Given the description of an element on the screen output the (x, y) to click on. 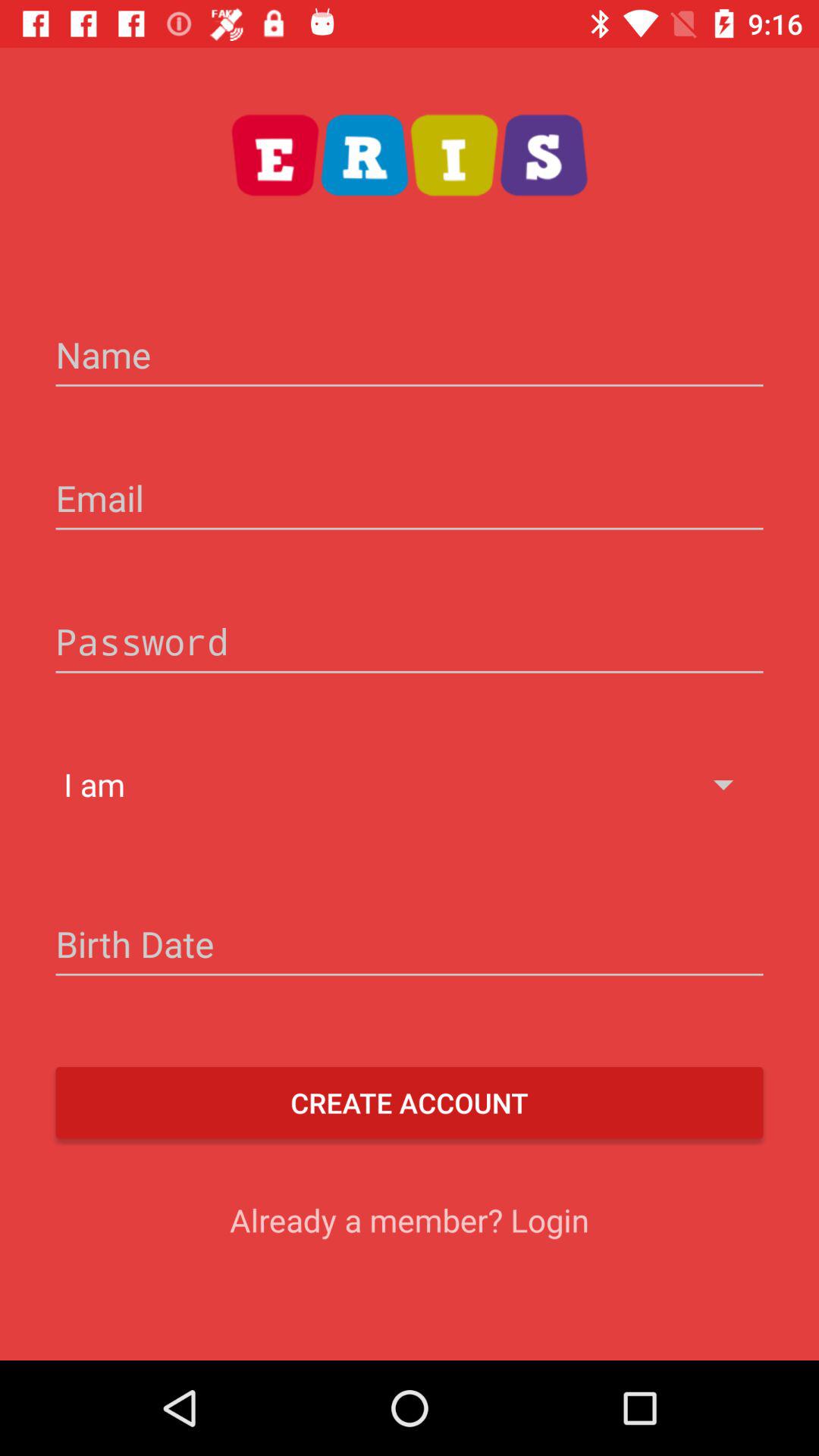
swipe to already a member item (409, 1219)
